Given the description of an element on the screen output the (x, y) to click on. 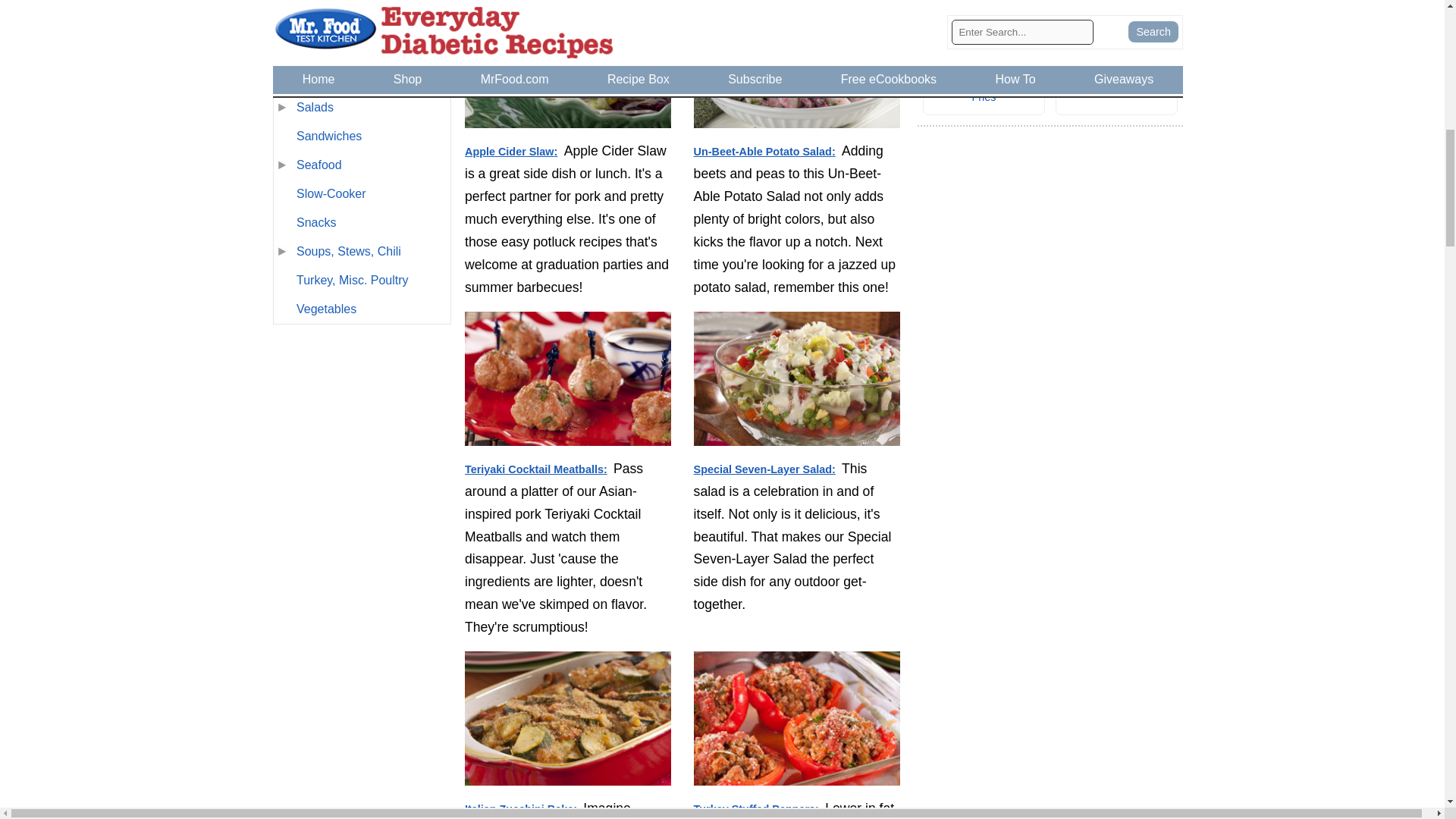
Italian Zucchini Bake (568, 719)
Teriyaki Cocktail Meatballs (568, 380)
Turkey Stuffed Peppers (796, 733)
Un-Beet-Able Potato Salad (796, 67)
Special Seven-Layer Salad (796, 380)
Apple Cider Slaw (568, 67)
